Given the description of an element on the screen output the (x, y) to click on. 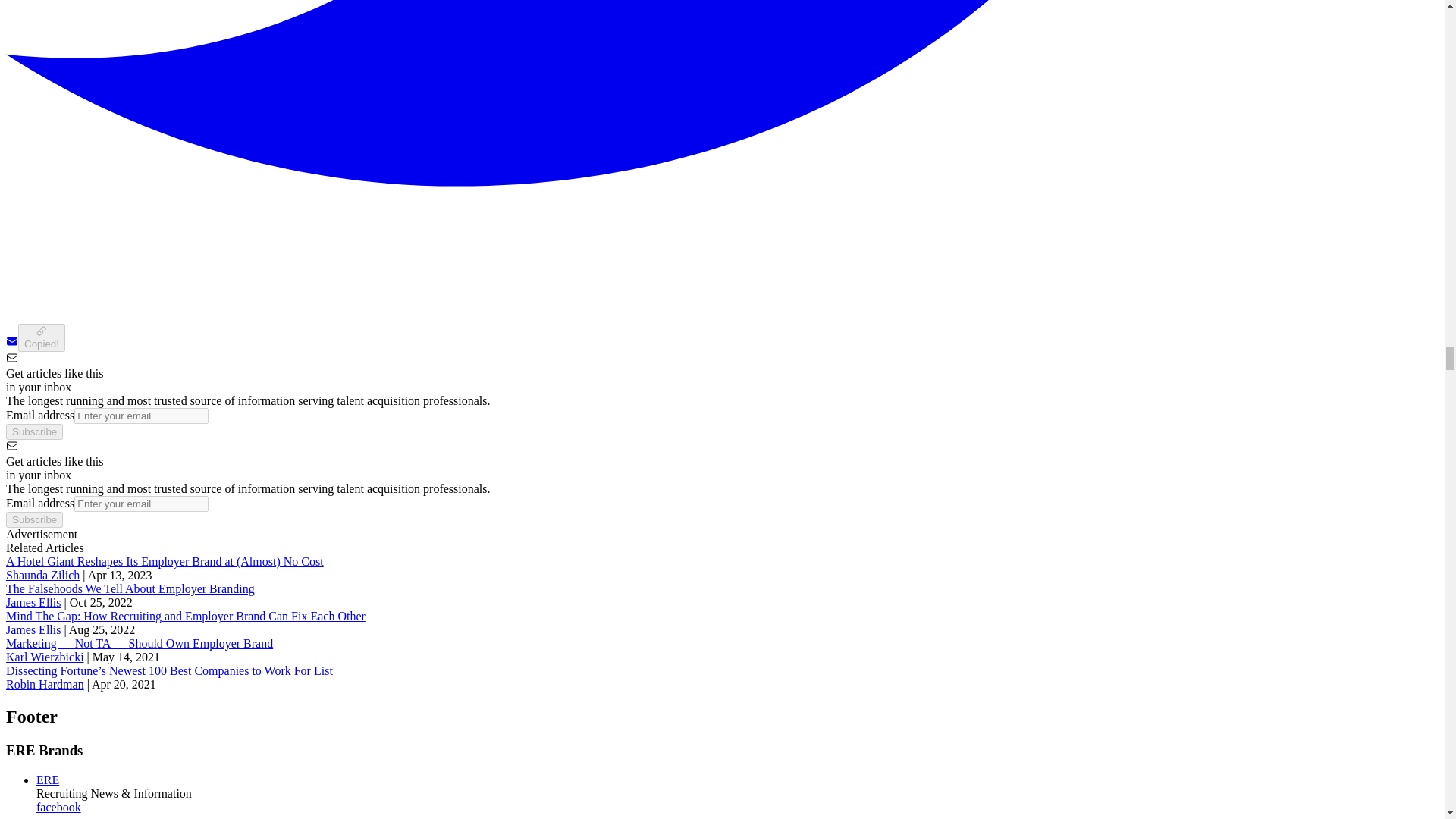
Subscribe (33, 519)
Karl Wierzbicki (44, 656)
Robin Hardman (44, 684)
ERE (47, 779)
Copied! (41, 337)
James Ellis (33, 602)
Shaunda Zilich (42, 574)
James Ellis (33, 629)
The Falsehoods We Tell About Employer Branding (129, 588)
Subscribe (33, 431)
